Given the description of an element on the screen output the (x, y) to click on. 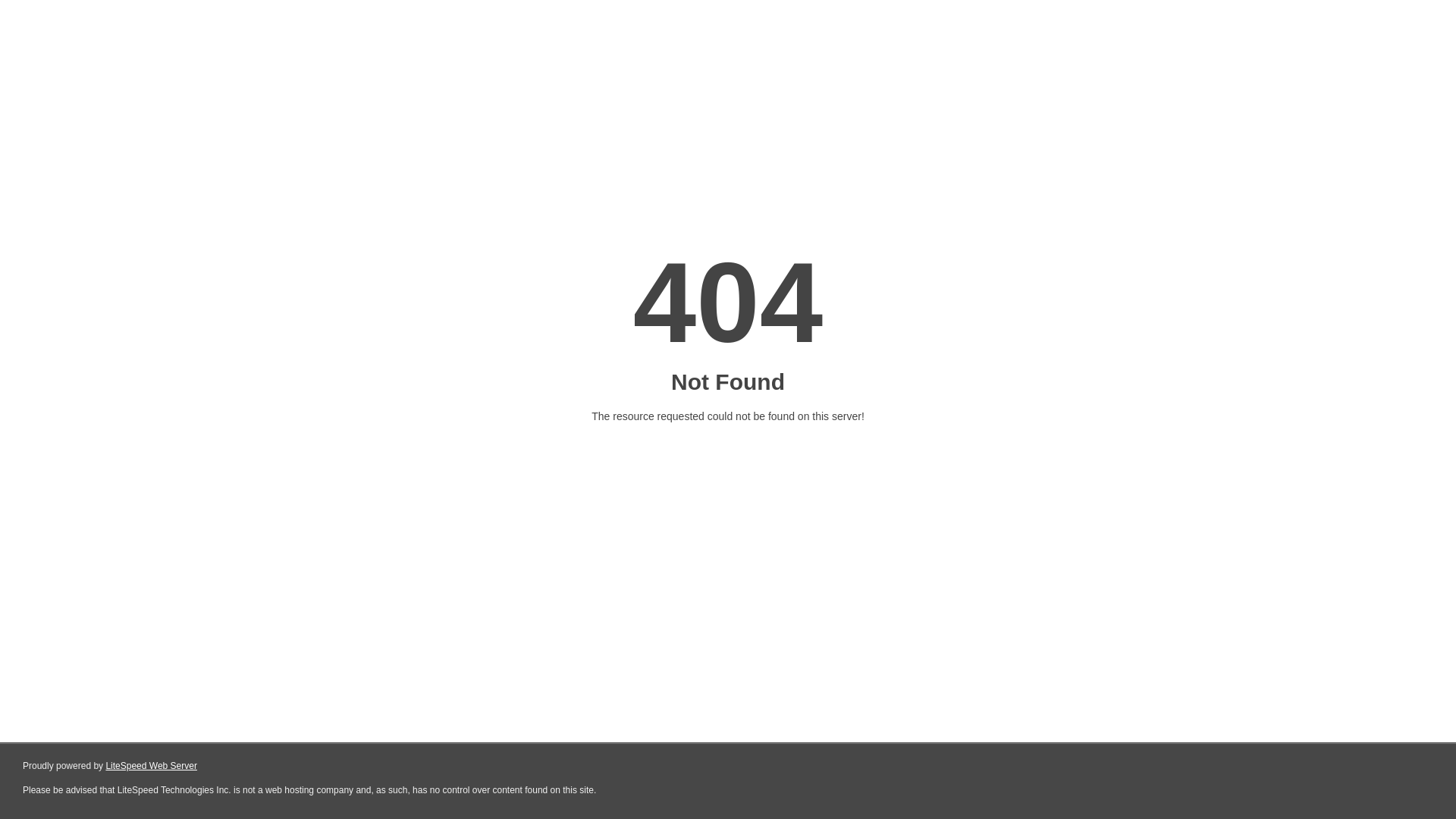
LiteSpeed Web Server Element type: text (151, 765)
